Given the description of an element on the screen output the (x, y) to click on. 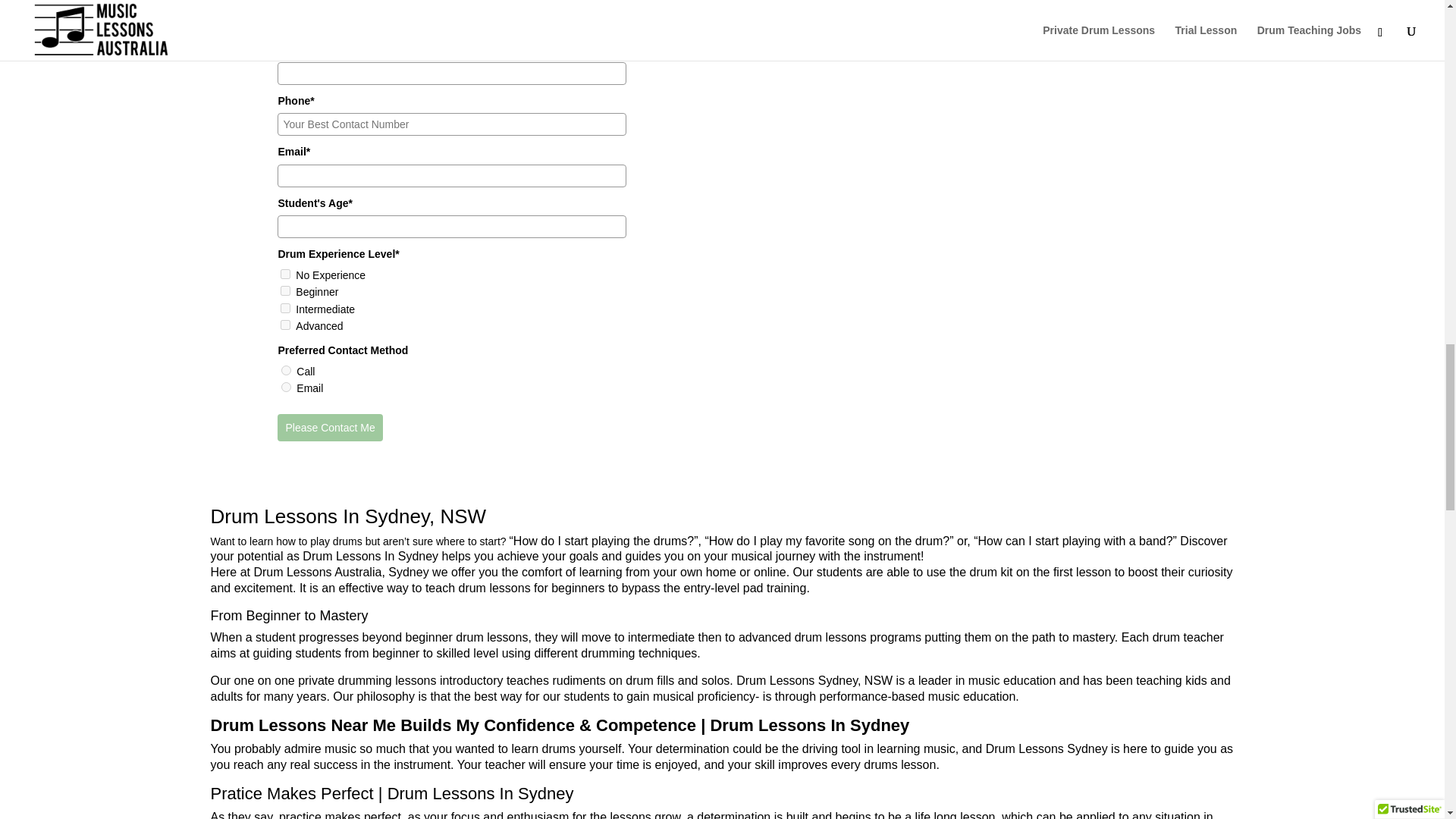
Please Contact Me (329, 427)
Beginner (285, 290)
Call (286, 370)
Advanced (285, 325)
Email (286, 387)
No Experience (285, 274)
Intermediate (285, 307)
